Given the description of an element on the screen output the (x, y) to click on. 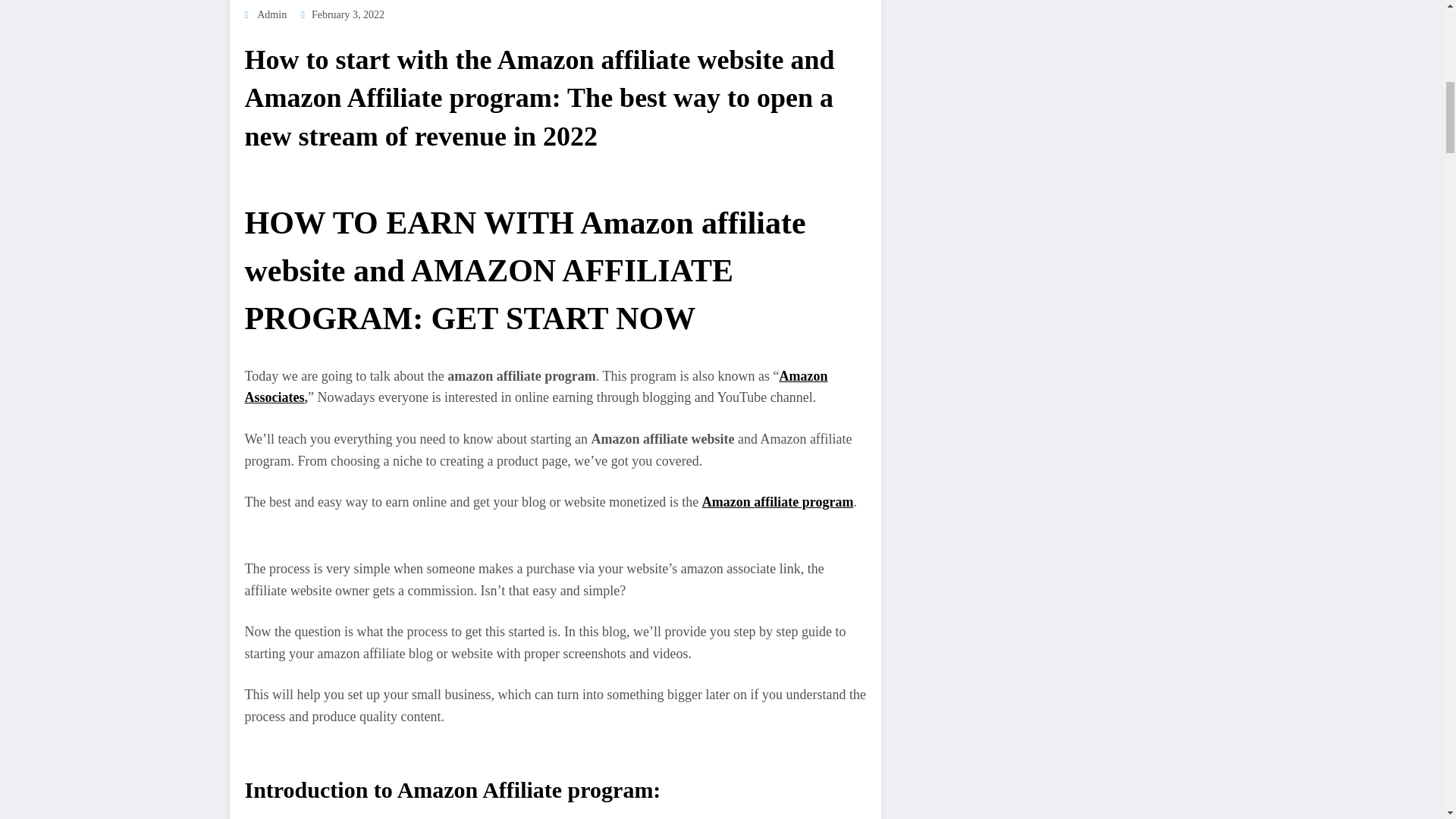
Admin (271, 14)
Amazon Associates (535, 386)
February 3, 2022 (347, 14)
Amazon affiliate program (777, 501)
